Given the description of an element on the screen output the (x, y) to click on. 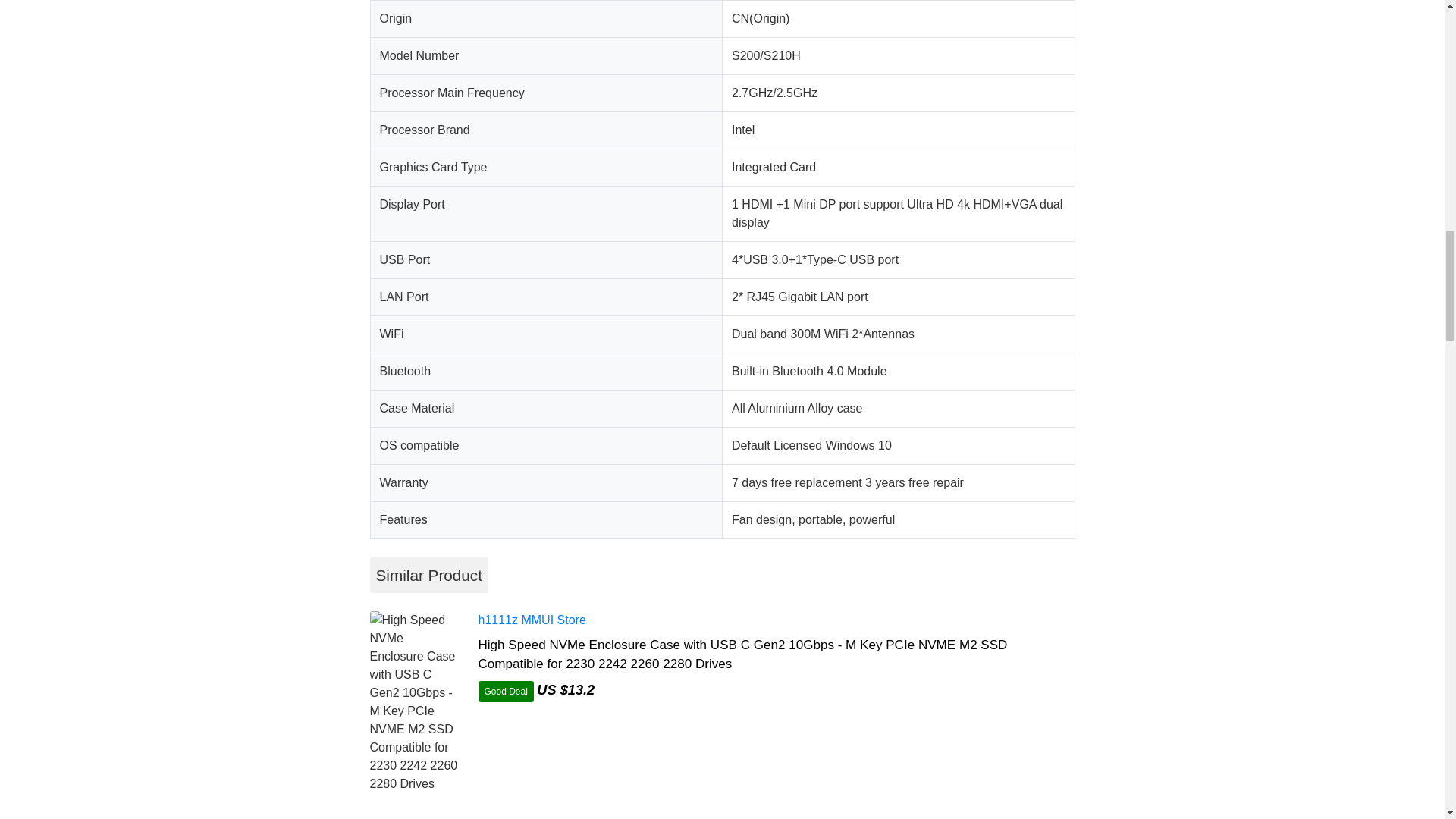
Good Deal (504, 690)
h1111z MMUI Store (531, 619)
